Given the description of an element on the screen output the (x, y) to click on. 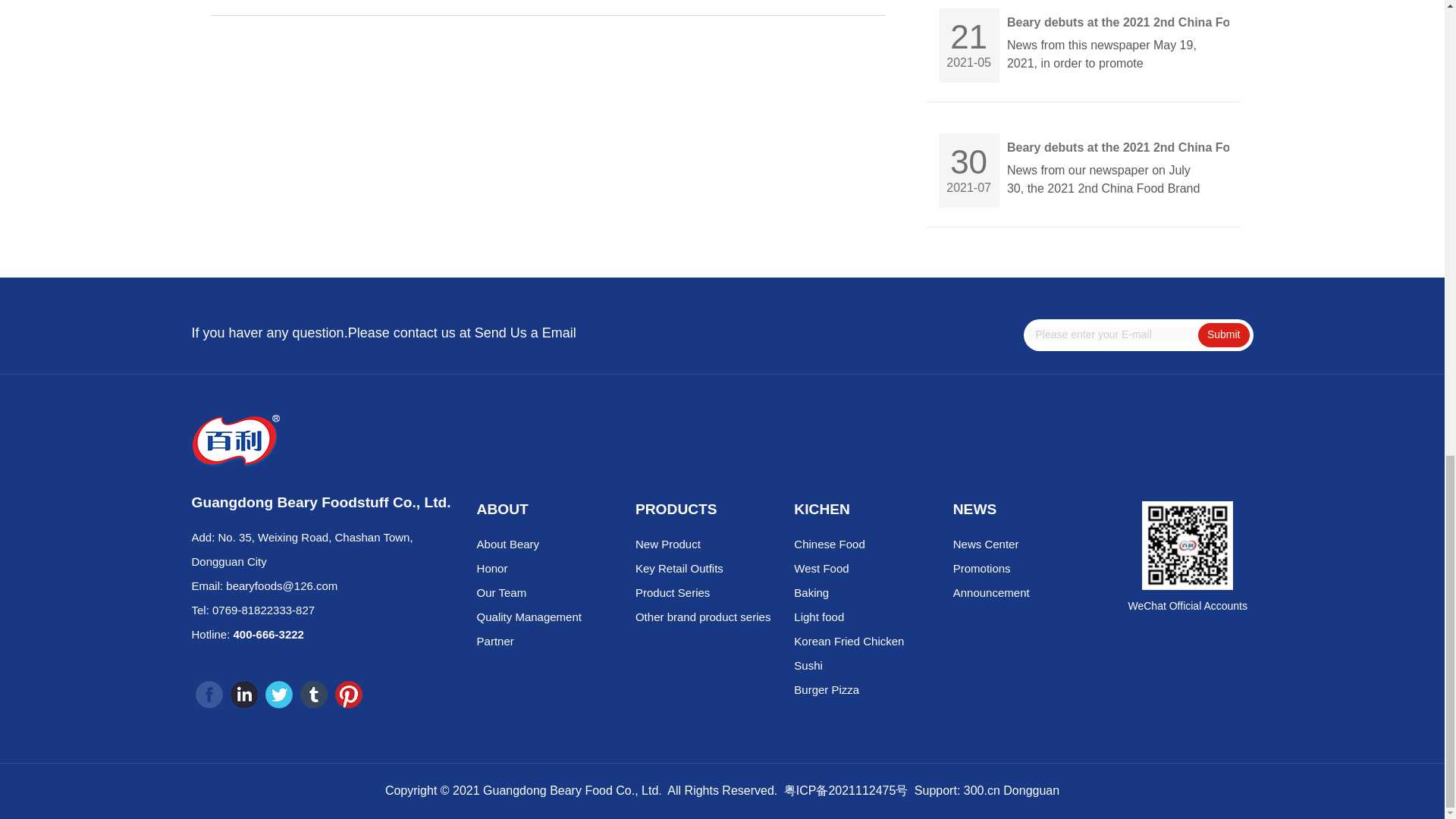
WeChat Official Accounts (1187, 545)
Tumblr (313, 694)
Twitter (278, 694)
Facebook (208, 694)
Pinterest (348, 694)
Linkedin (243, 694)
